Given the description of an element on the screen output the (x, y) to click on. 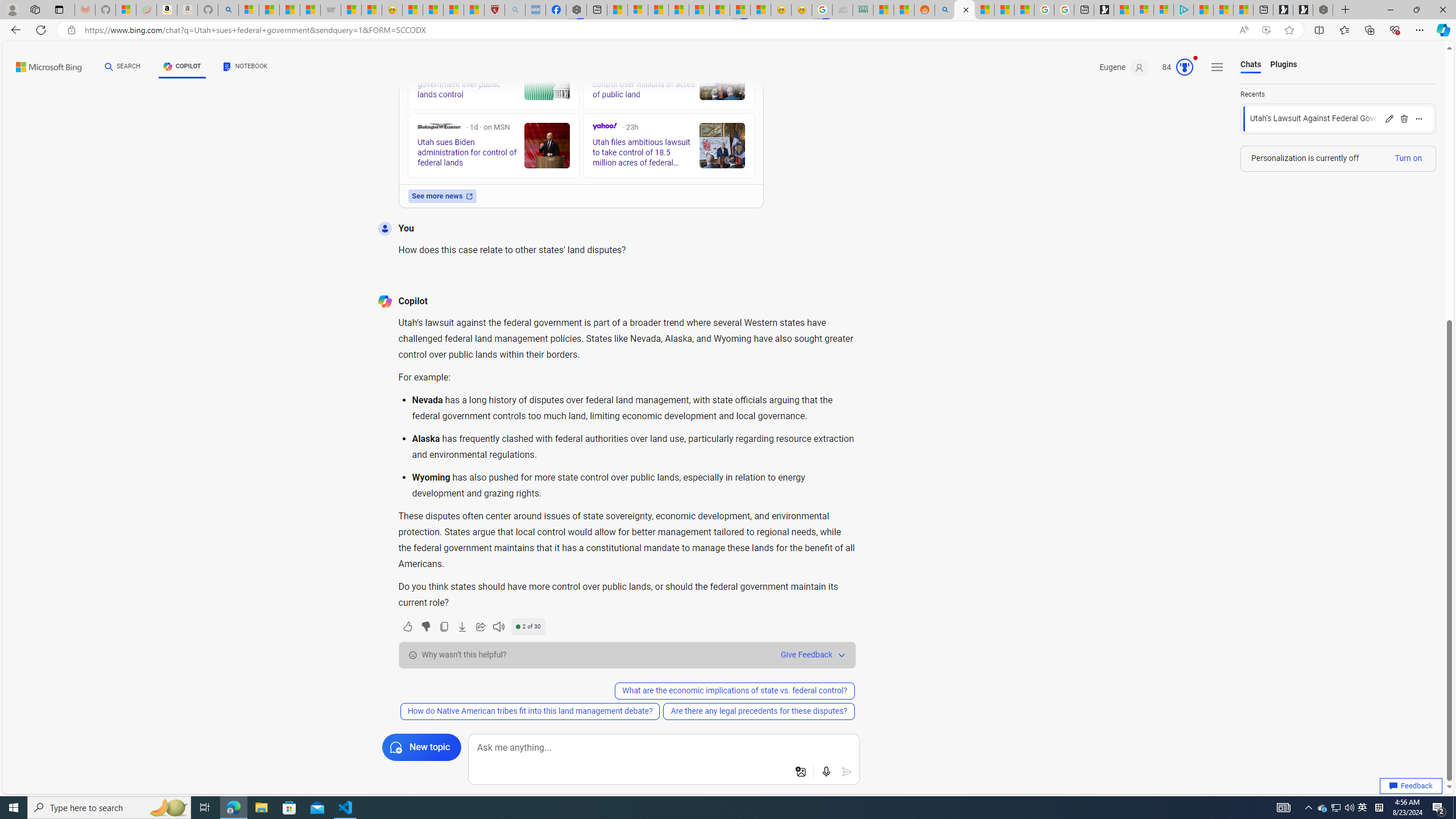
Submit (847, 771)
Microsoft Rewards 84 (1173, 67)
Read aloud (498, 626)
Animation (1195, 57)
